Given the description of an element on the screen output the (x, y) to click on. 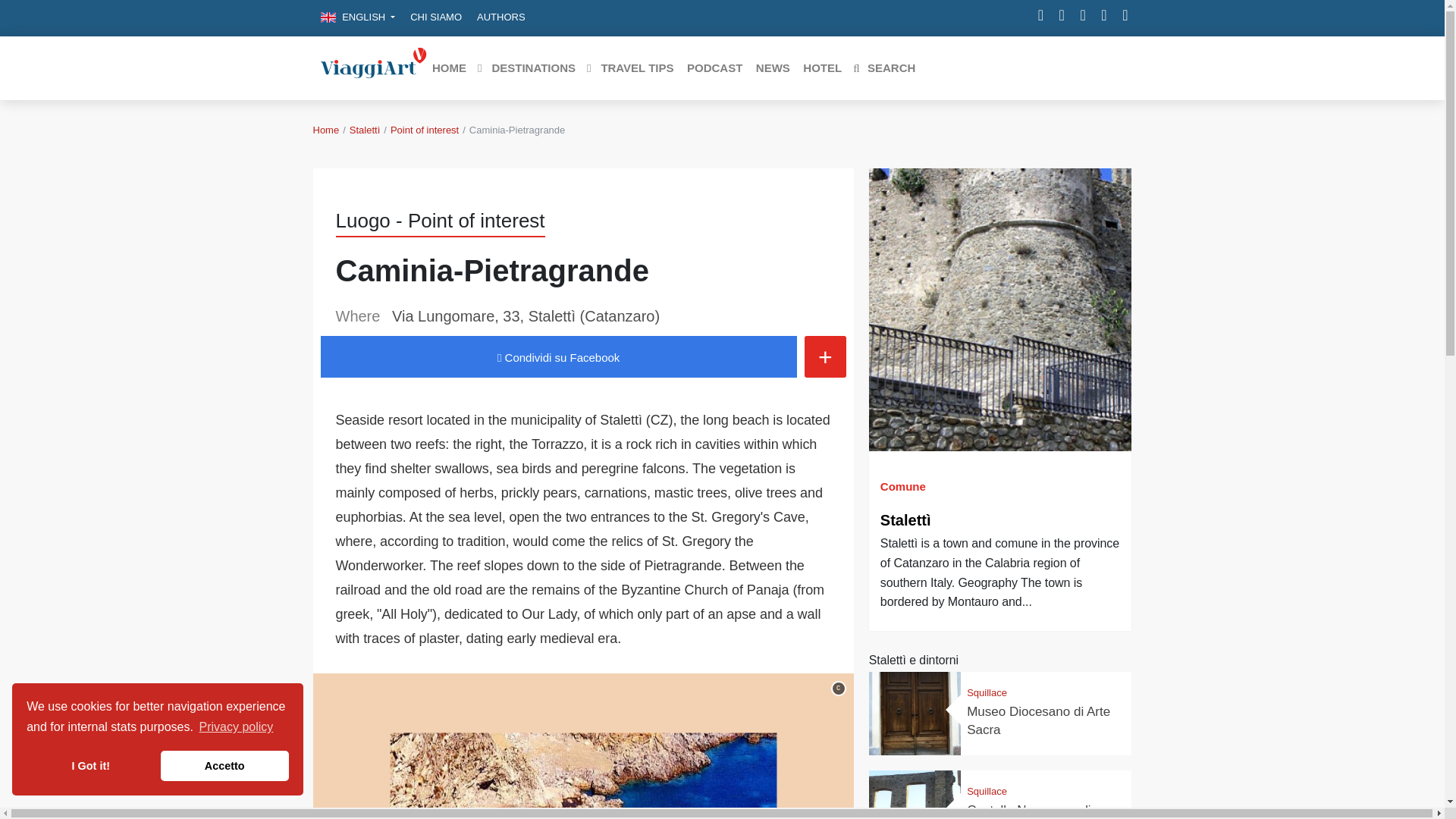
Privacy policy (235, 726)
ENGLISH (358, 17)
Chi siamo (435, 16)
DESTINATIONS (526, 68)
AUTHORS (500, 16)
CHI SIAMO (435, 16)
Authors (500, 16)
HOME (448, 68)
Home (326, 130)
Search (883, 68)
Point of interest (424, 130)
Accetto (224, 766)
ViaggiArt (373, 66)
I Got it! (90, 766)
